Given the description of an element on the screen output the (x, y) to click on. 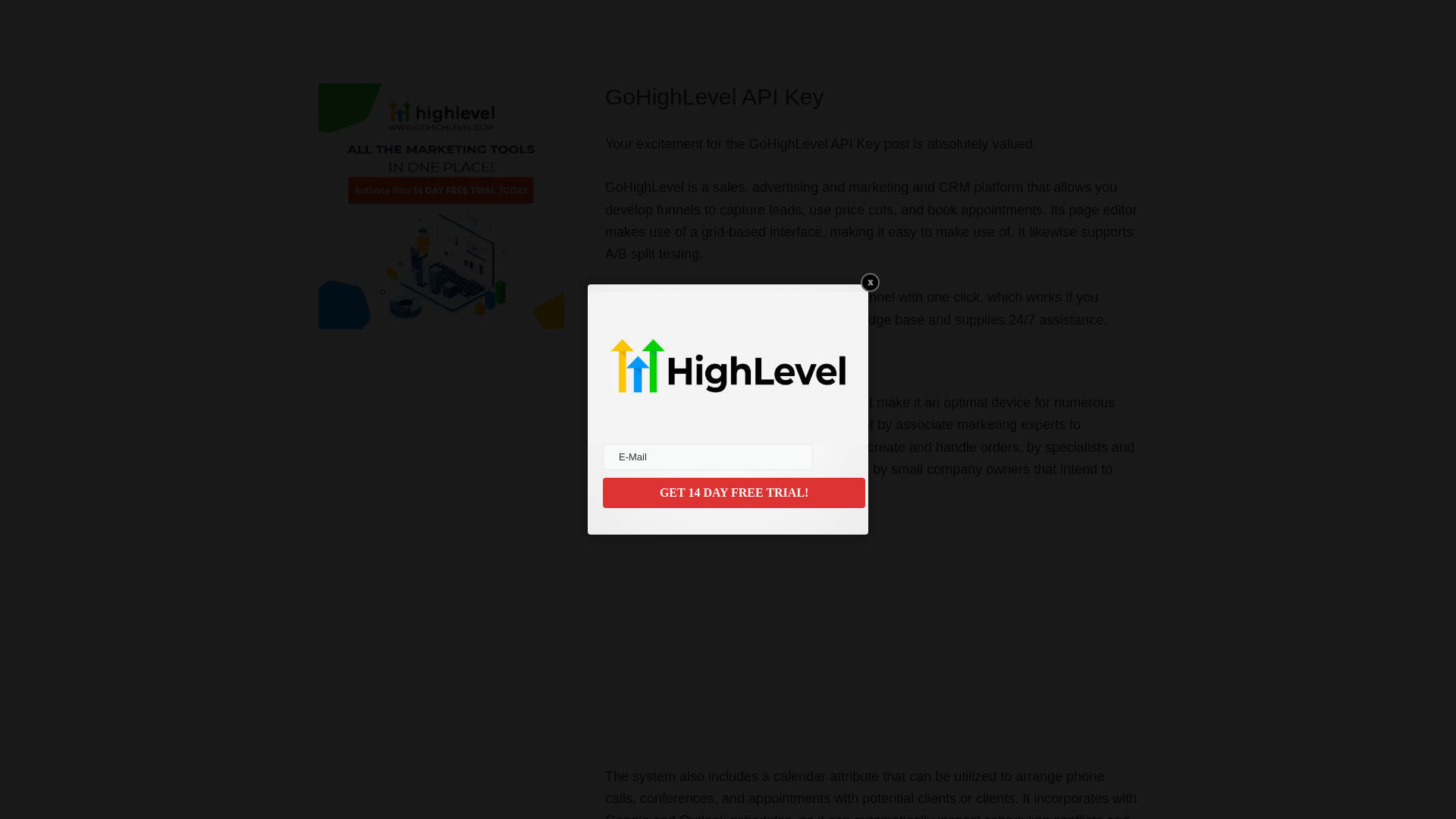
Welcome To HighLevel (794, 630)
GET 14 DAY FREE TRIAL! (733, 492)
GET 14 DAY FREE TRIAL! (733, 492)
